Given the description of an element on the screen output the (x, y) to click on. 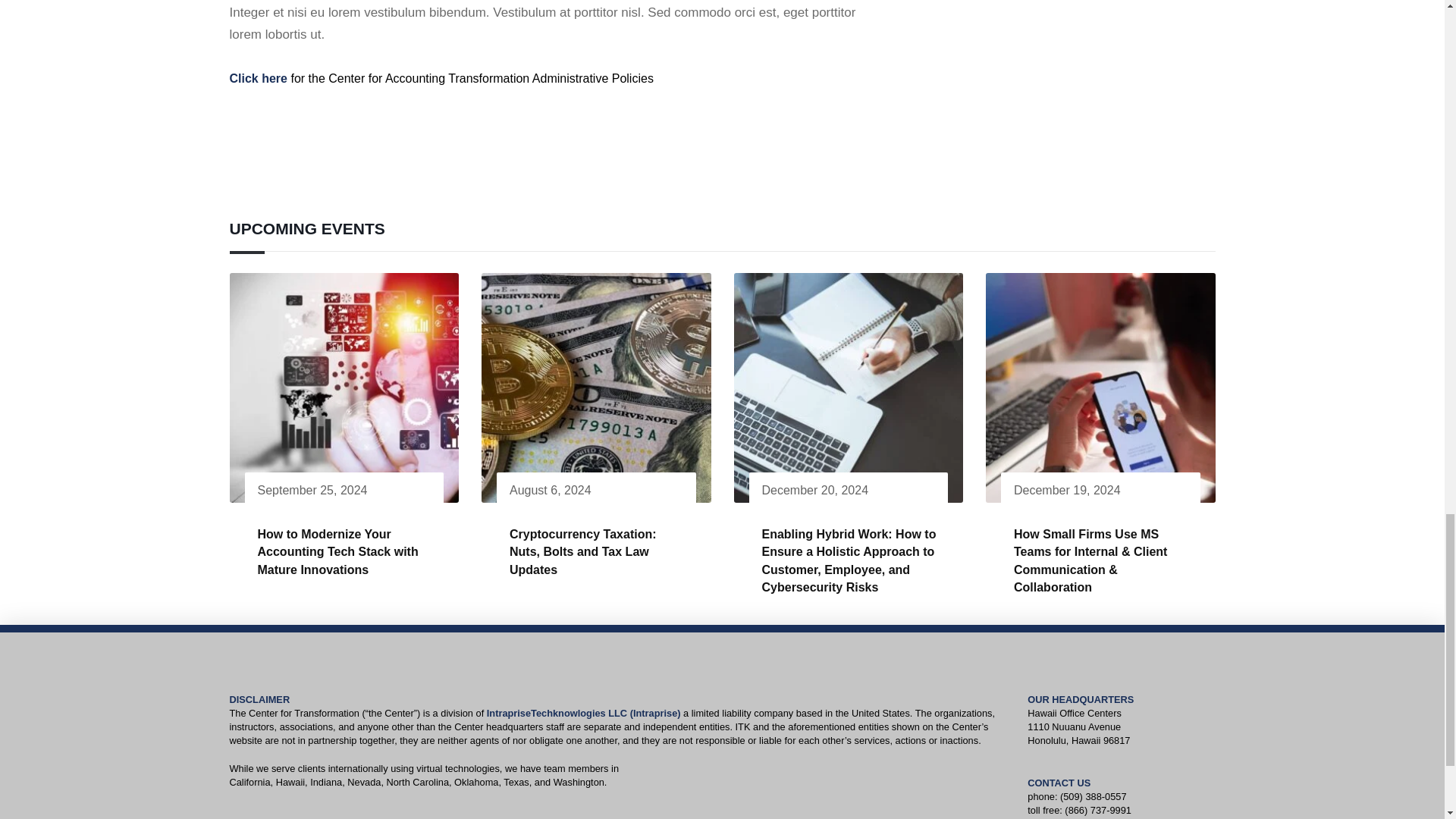
Click here (257, 78)
Cryptocurrency Taxation: Nuts, Bolts and Tax Law Updates (582, 551)
